Given the description of an element on the screen output the (x, y) to click on. 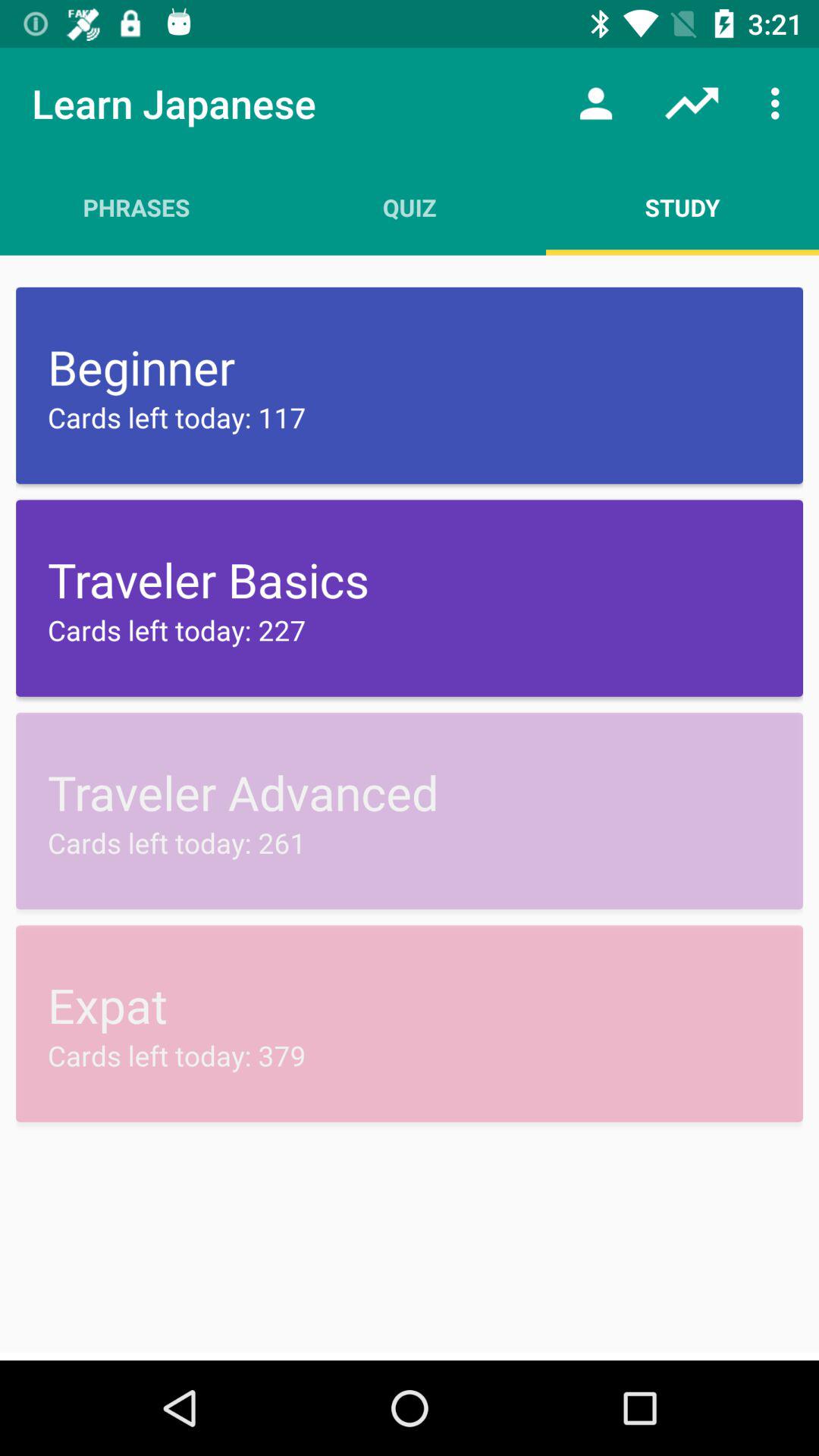
press icon above the beginner (682, 207)
